Given the description of an element on the screen output the (x, y) to click on. 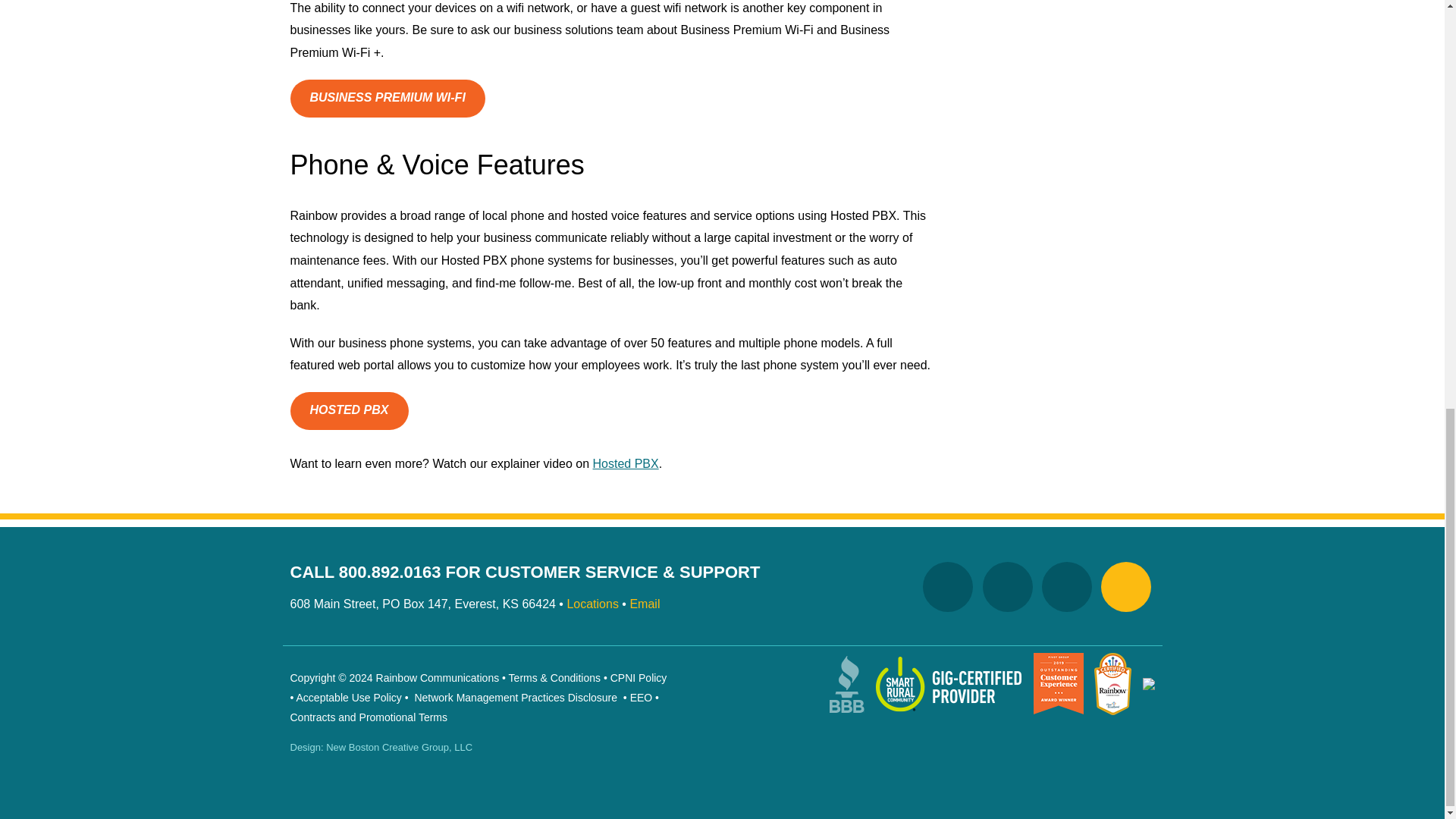
RSS (1125, 586)
Facebook (1007, 586)
CPNI Policy (638, 677)
Email (643, 603)
Hosted PBX (625, 463)
EEO (641, 697)
Locations (592, 603)
Contracts and Promotional Terms (367, 717)
New Boston Creative Group, LLC (398, 747)
HOSTED PBX (348, 410)
